Given the description of an element on the screen output the (x, y) to click on. 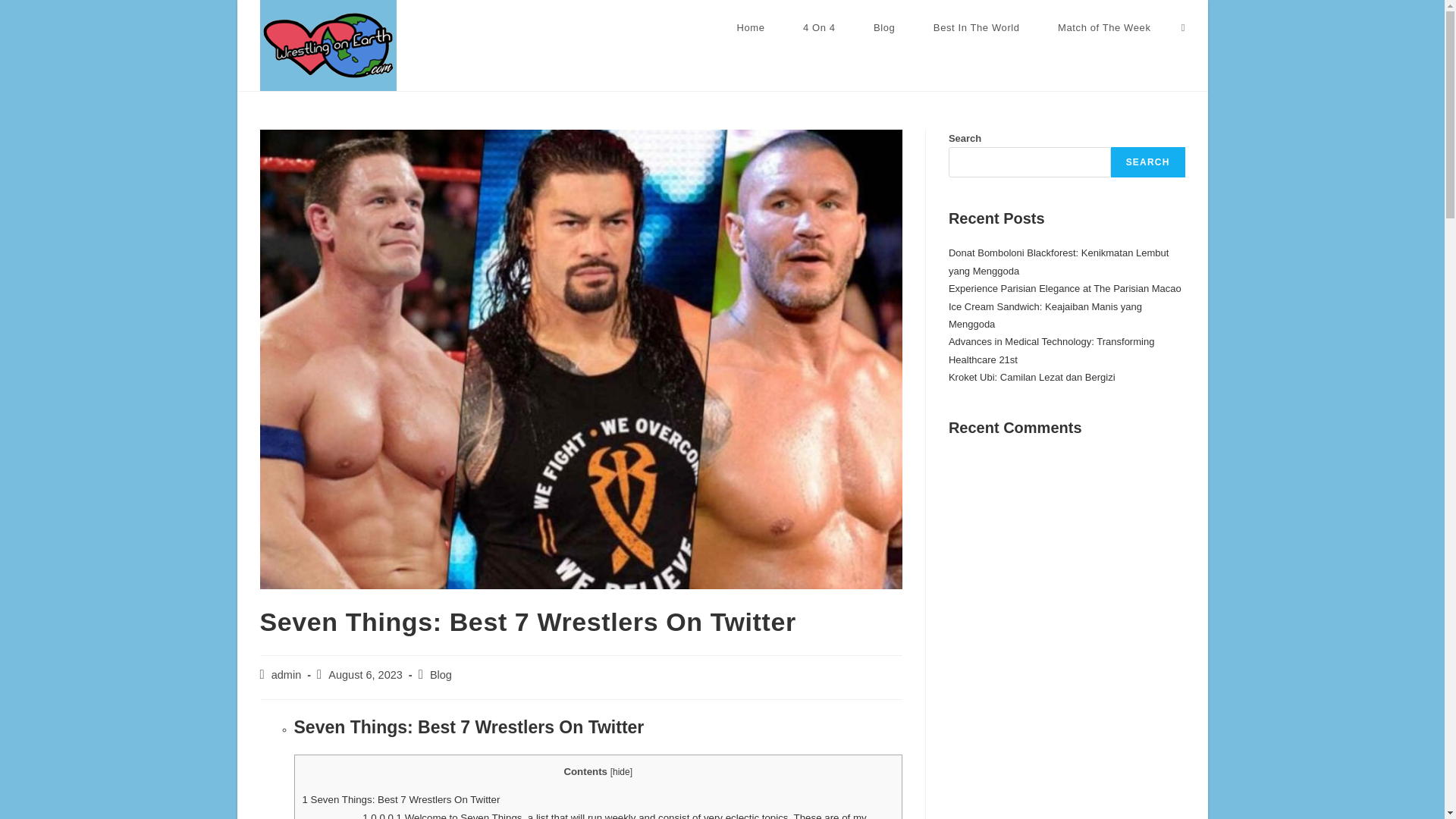
Best In The World (976, 28)
Match of The Week (1104, 28)
hide (621, 771)
4 On 4 (819, 28)
Posts by admin (285, 674)
Blog (884, 28)
Home (750, 28)
admin (285, 674)
SEARCH (1147, 162)
Blog (440, 674)
